Given the description of an element on the screen output the (x, y) to click on. 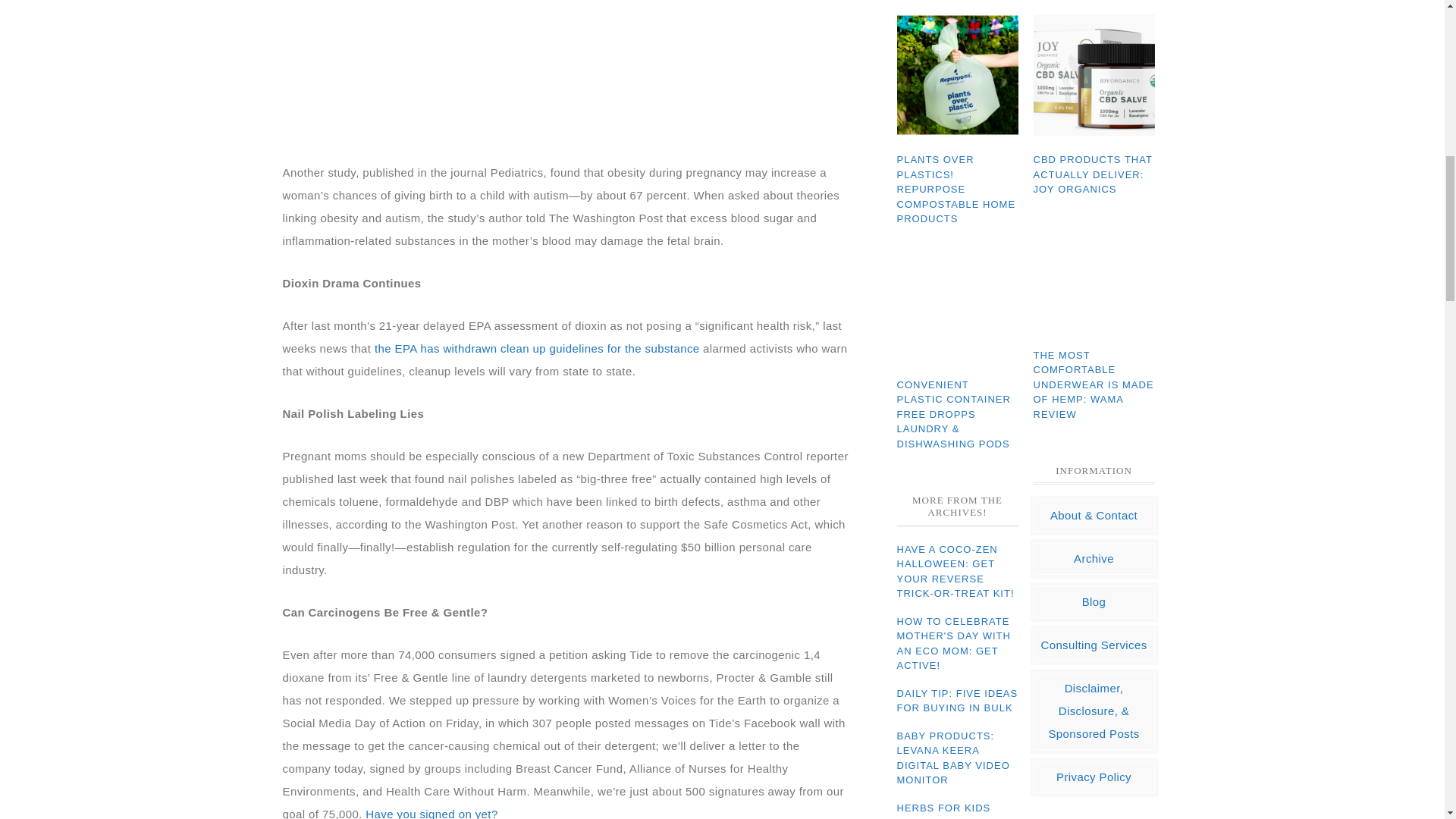
Have you signed on yet? (431, 812)
Advertisement (566, 70)
the EPA has withdrawn clean up guidelines for the substance (537, 347)
